Given the description of an element on the screen output the (x, y) to click on. 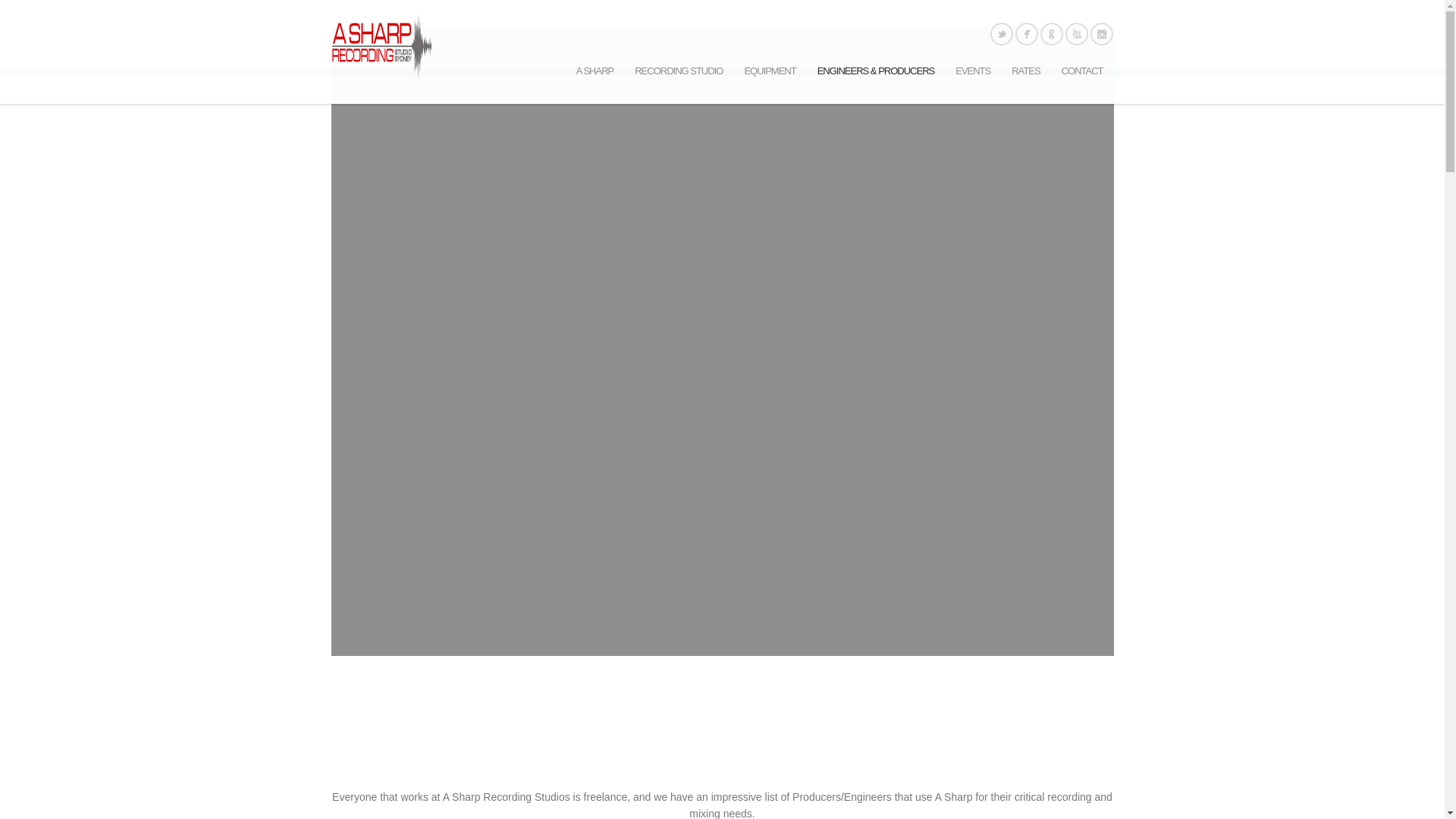
GooglePlus (1050, 33)
RATES (1025, 71)
Facebook (1026, 33)
CONTACT (1082, 71)
A SHARP (595, 71)
EQUIPMENT (769, 71)
Twitter (1000, 33)
EVENTS (972, 71)
RECORDING STUDIO (678, 71)
YouTube (1076, 33)
